Given the description of an element on the screen output the (x, y) to click on. 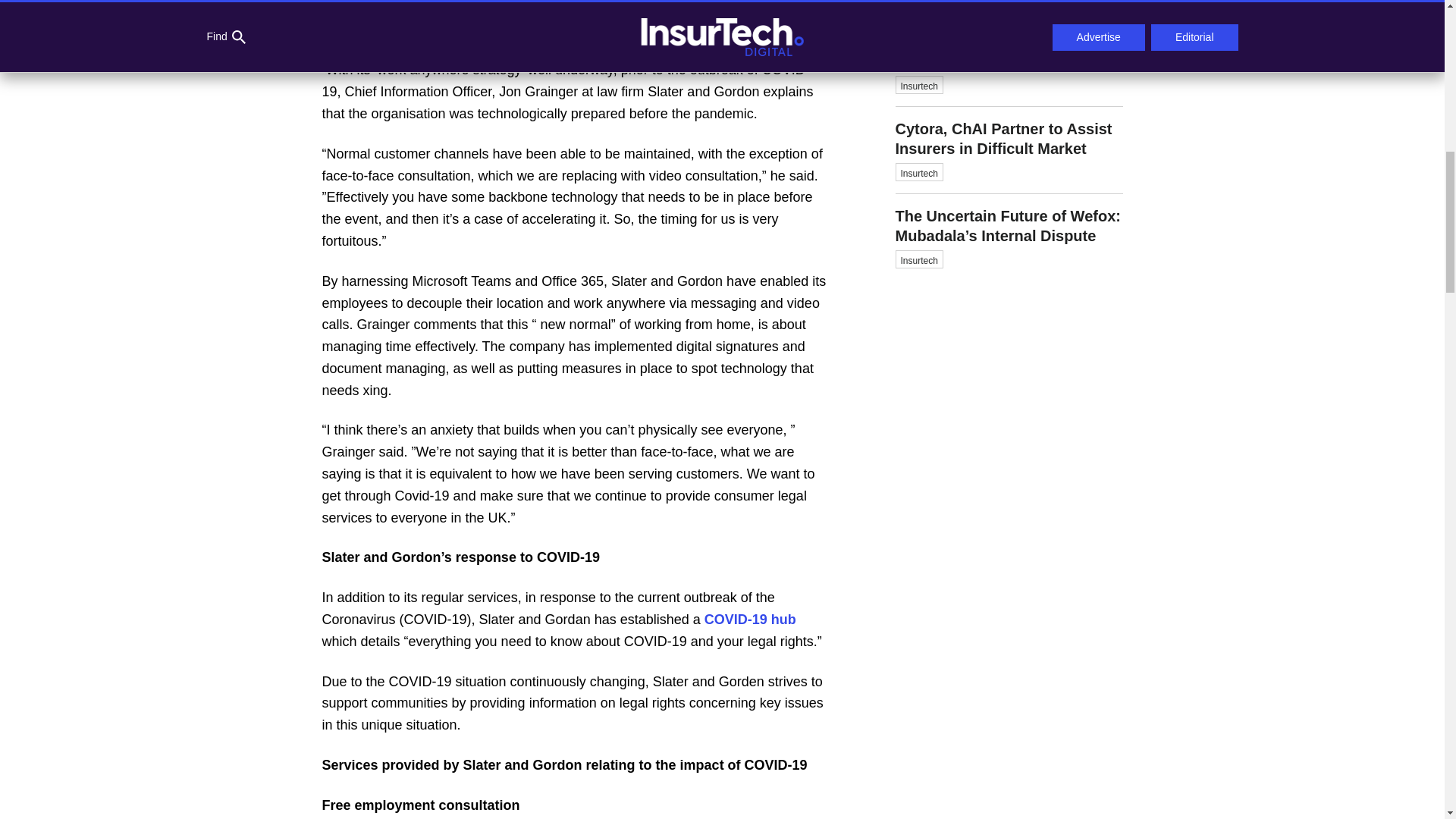
COVID-19 hub (748, 619)
